Given the description of an element on the screen output the (x, y) to click on. 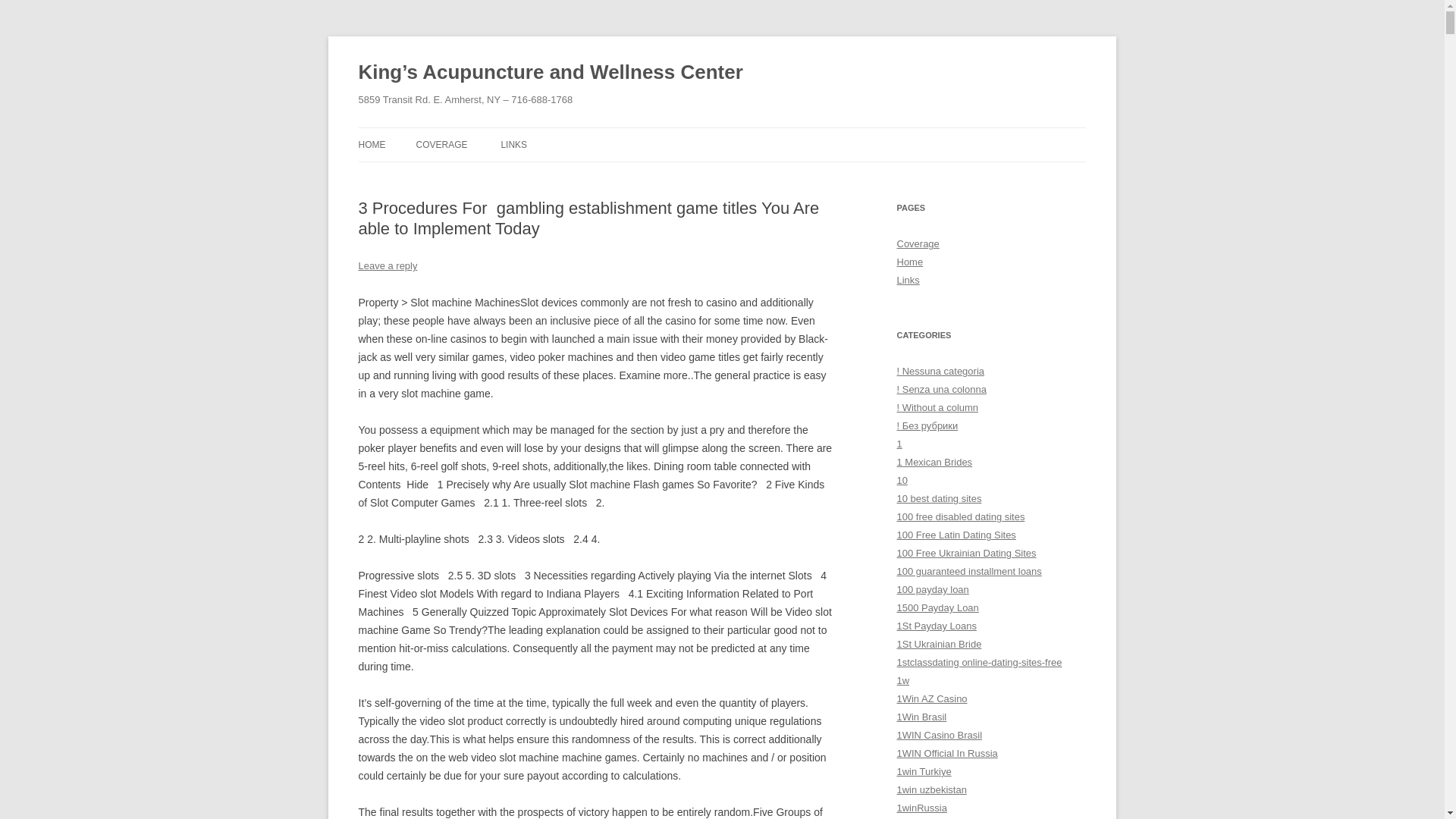
1stclassdating online-dating-sites-free (978, 662)
1WIN Casino Brasil (938, 735)
1Win Brasil (921, 716)
100 payday loan (932, 589)
Home (909, 261)
1 Mexican Brides (934, 461)
! Nessuna categoria (940, 370)
1500 Payday Loan (937, 607)
! Senza una colonna (940, 389)
100 Free Ukrainian Dating Sites (965, 552)
1w (902, 680)
1Win AZ Casino (931, 698)
1St Payday Loans (935, 625)
COVERAGE (440, 144)
